Given the description of an element on the screen output the (x, y) to click on. 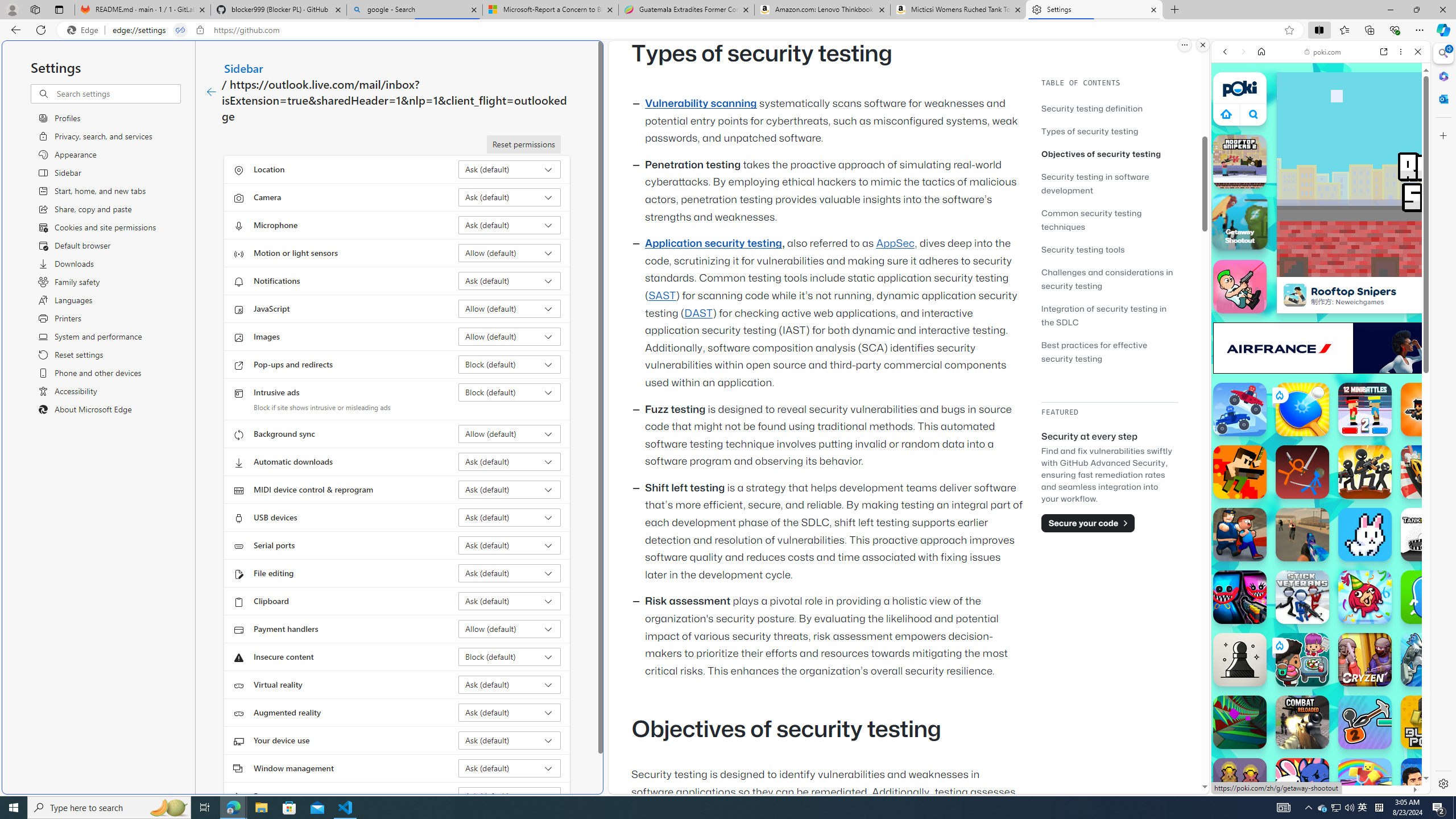
Class: aprWdaSScyiJf4Jvmsx9 (1225, 113)
Cryzen.io Cryzen.io (1364, 659)
Show More Shooting Games (1390, 296)
Show More Games for Girls (1390, 407)
Stick Veterans (1302, 597)
Rainbow Obby Rainbow Obby (1364, 784)
Show More Two Player Games (1390, 323)
Getaway Shootout (1239, 221)
Io Games (1320, 351)
Window management Ask (default) (509, 768)
